Given the description of an element on the screen output the (x, y) to click on. 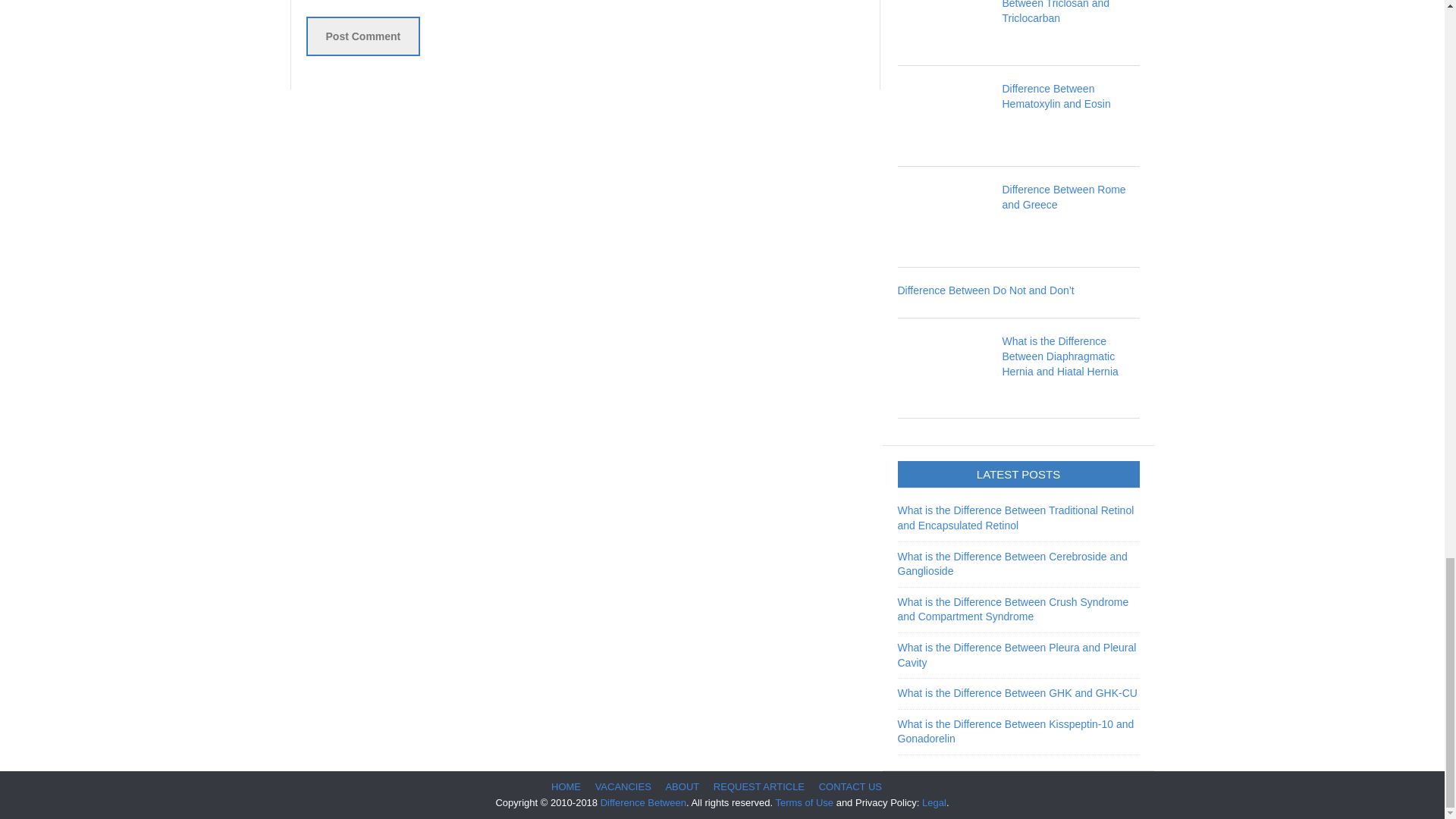
Post Comment (362, 36)
Difference Between Hematoxylin and Eosin (1056, 95)
Post Comment (362, 36)
What is the Difference Between Triclosan and Triclocarban (1056, 12)
Difference Between Rome and Greece (1064, 196)
